Given the description of an element on the screen output the (x, y) to click on. 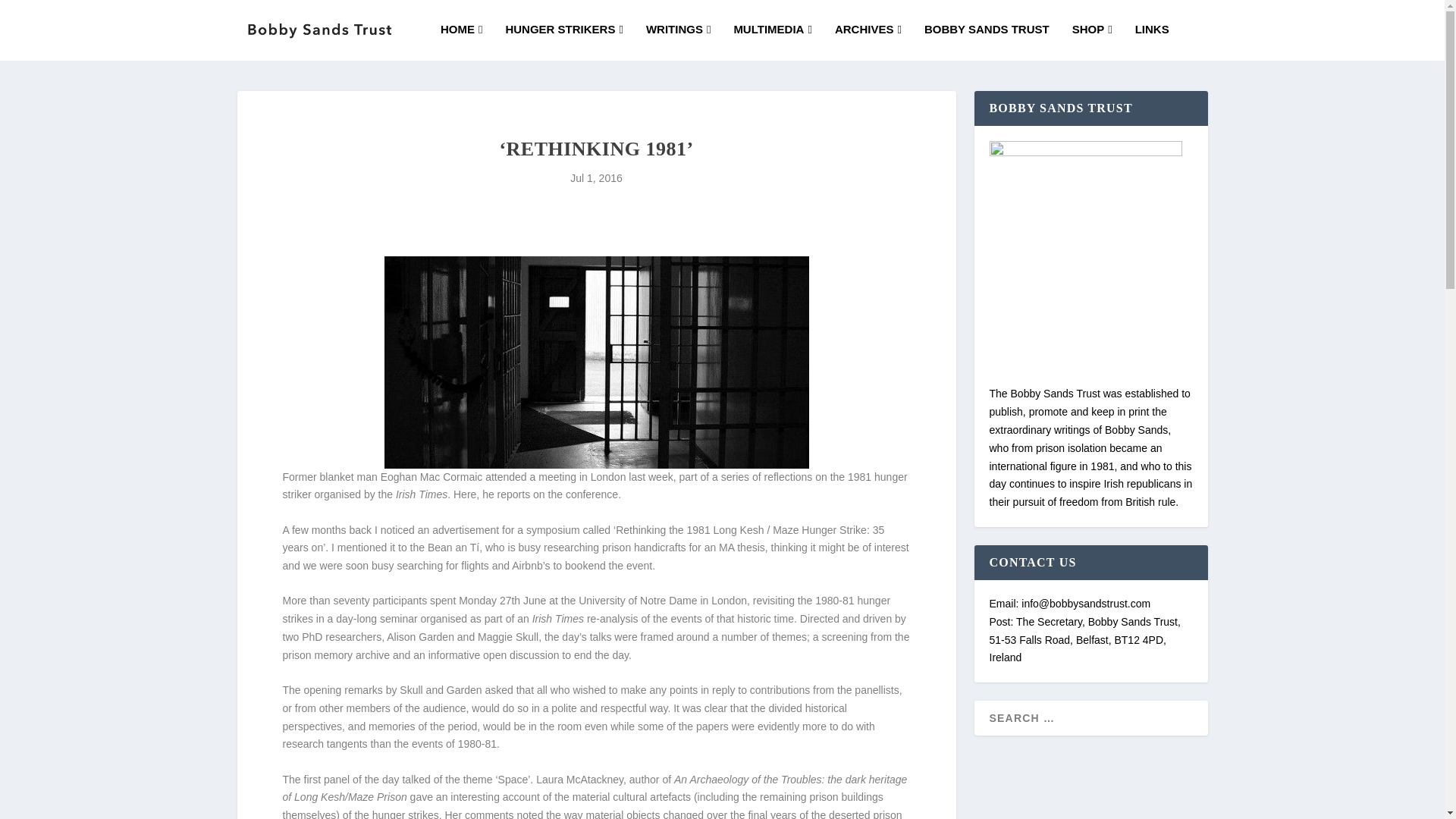
HOME (461, 41)
MULTIMEDIA (772, 41)
HUNGER STRIKERS (564, 41)
SHOP (1091, 41)
ARCHIVES (867, 41)
WRITINGS (678, 41)
BOBBY SANDS TRUST (986, 41)
